Given the description of an element on the screen output the (x, y) to click on. 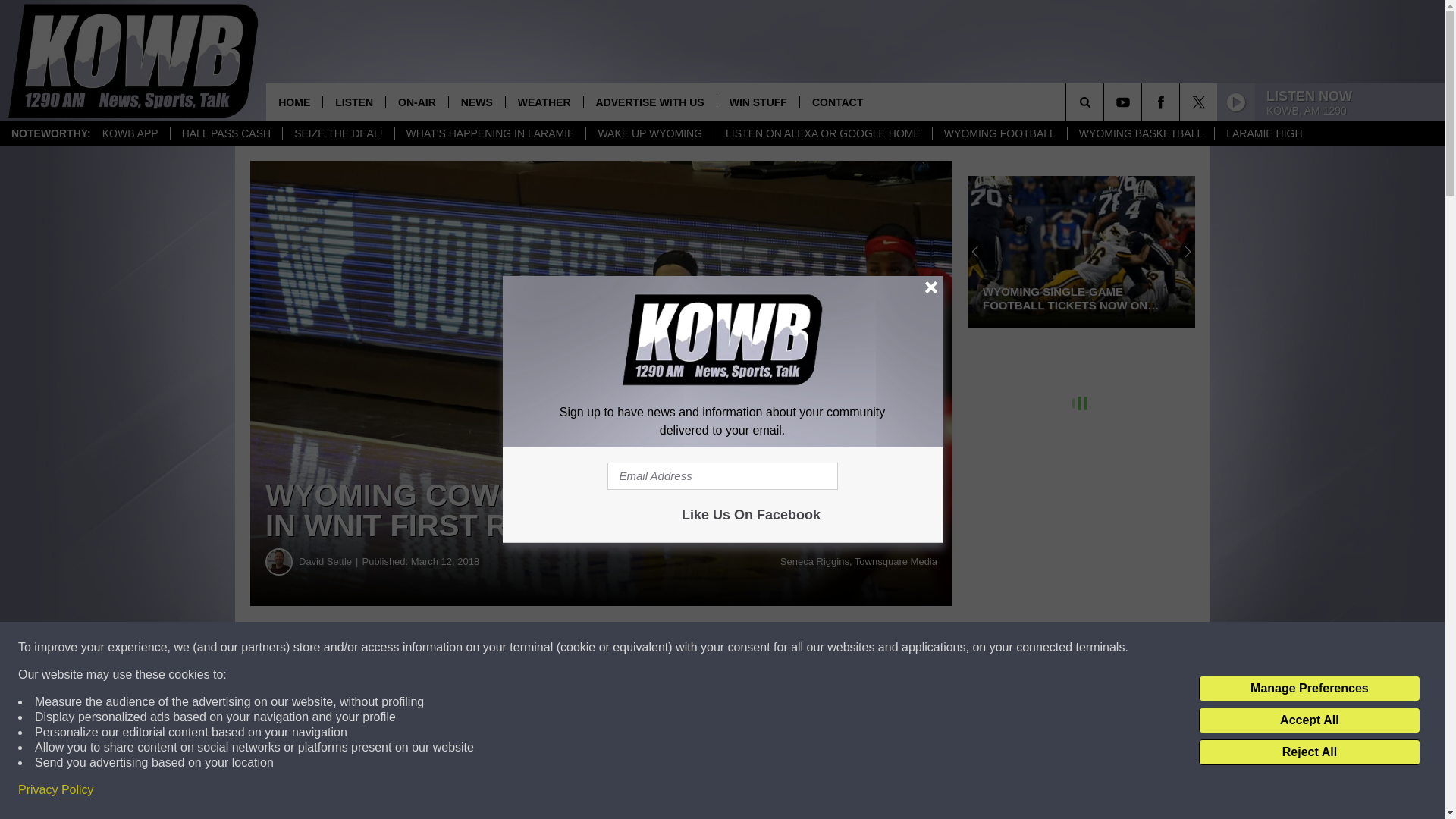
Email Address (722, 475)
Privacy Policy (55, 789)
NEWS (476, 102)
WAKE UP WYOMING (649, 133)
WHAT'S HAPPENING IN LARAMIE (490, 133)
Share on Twitter (741, 647)
Reject All (1309, 751)
LISTEN ON ALEXA OR GOOGLE HOME (822, 133)
Accept All (1309, 720)
WYOMING FOOTBALL (999, 133)
WYOMING BASKETBALL (1140, 133)
HOME (293, 102)
Manage Preferences (1309, 688)
LARAMIE HIGH (1263, 133)
ON-AIR (416, 102)
